Given the description of an element on the screen output the (x, y) to click on. 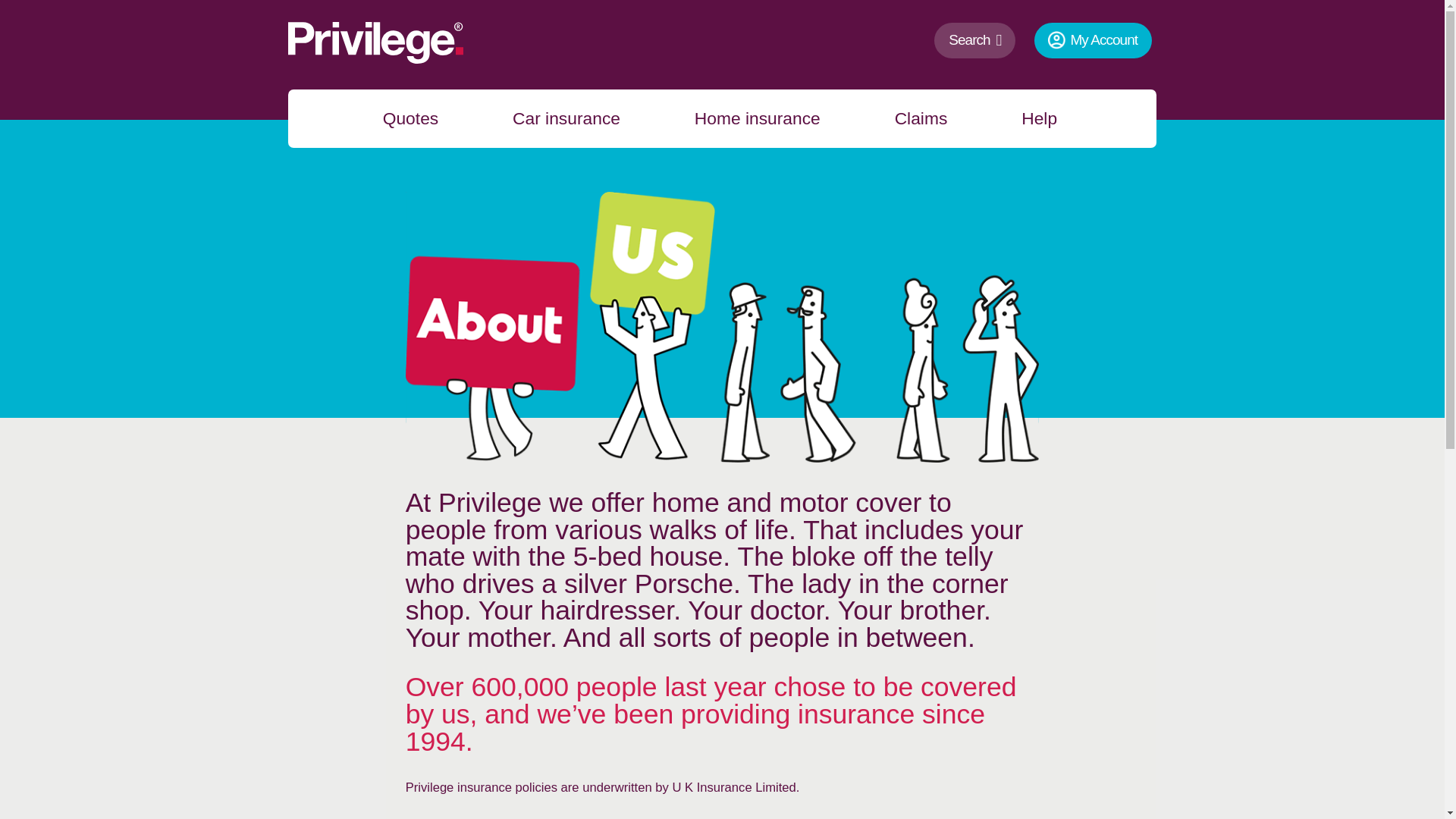
Claims (911, 118)
Privilege.com (314, 119)
Visit your account (1092, 40)
Quotes (400, 118)
Home insurance (747, 118)
Car insurance (556, 118)
Help (1029, 118)
My Account (1092, 40)
Search (974, 40)
Get an insurance quote (400, 118)
